Given the description of an element on the screen output the (x, y) to click on. 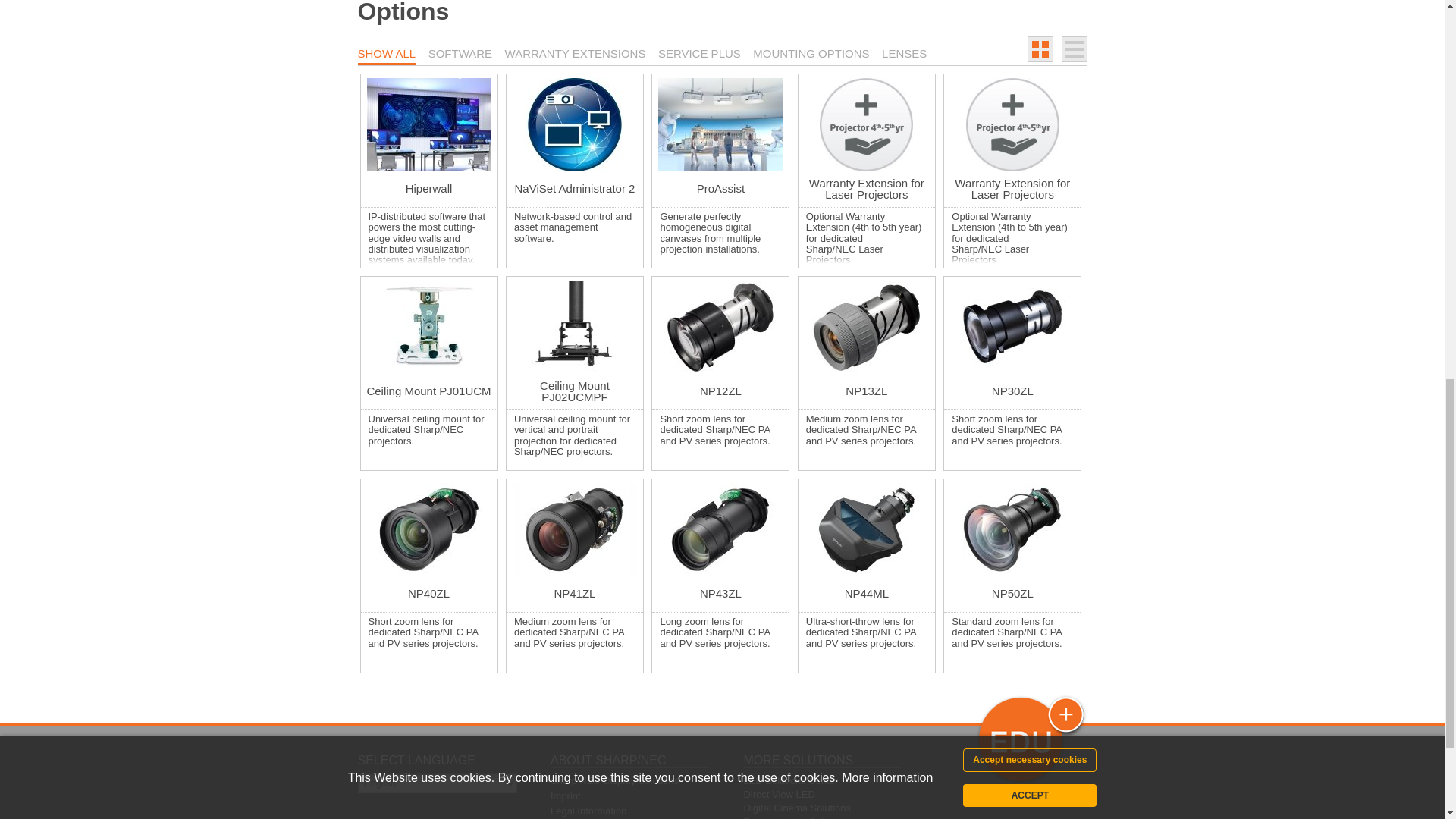
List View (1074, 49)
Grid View (1039, 49)
